Given the description of an element on the screen output the (x, y) to click on. 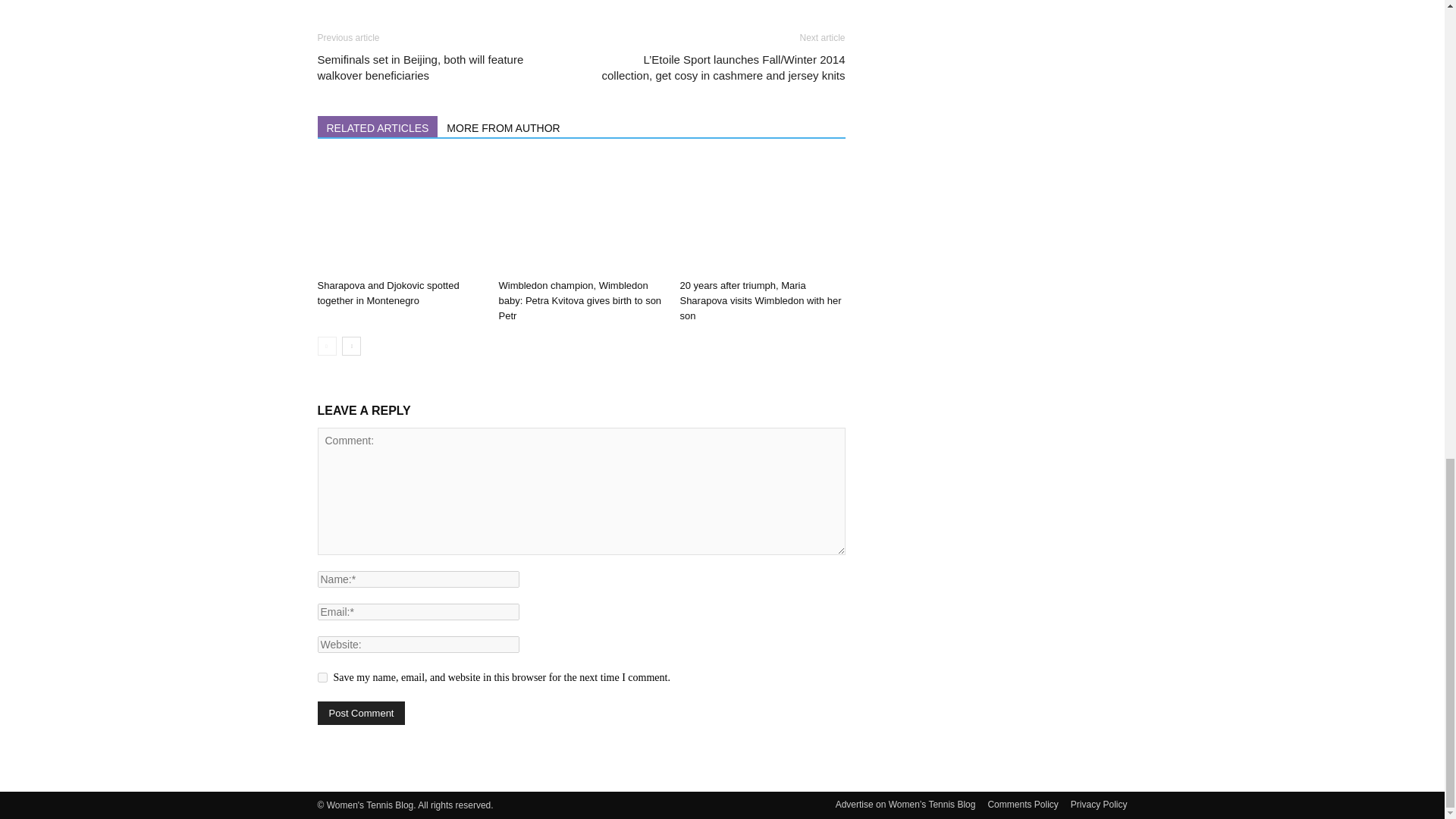
Sharapova and Djokovic spotted together in Montenegro (387, 293)
Post Comment (360, 712)
yes (321, 677)
Sharapova and Djokovic spotted together in Montenegro (399, 215)
